Given the description of an element on the screen output the (x, y) to click on. 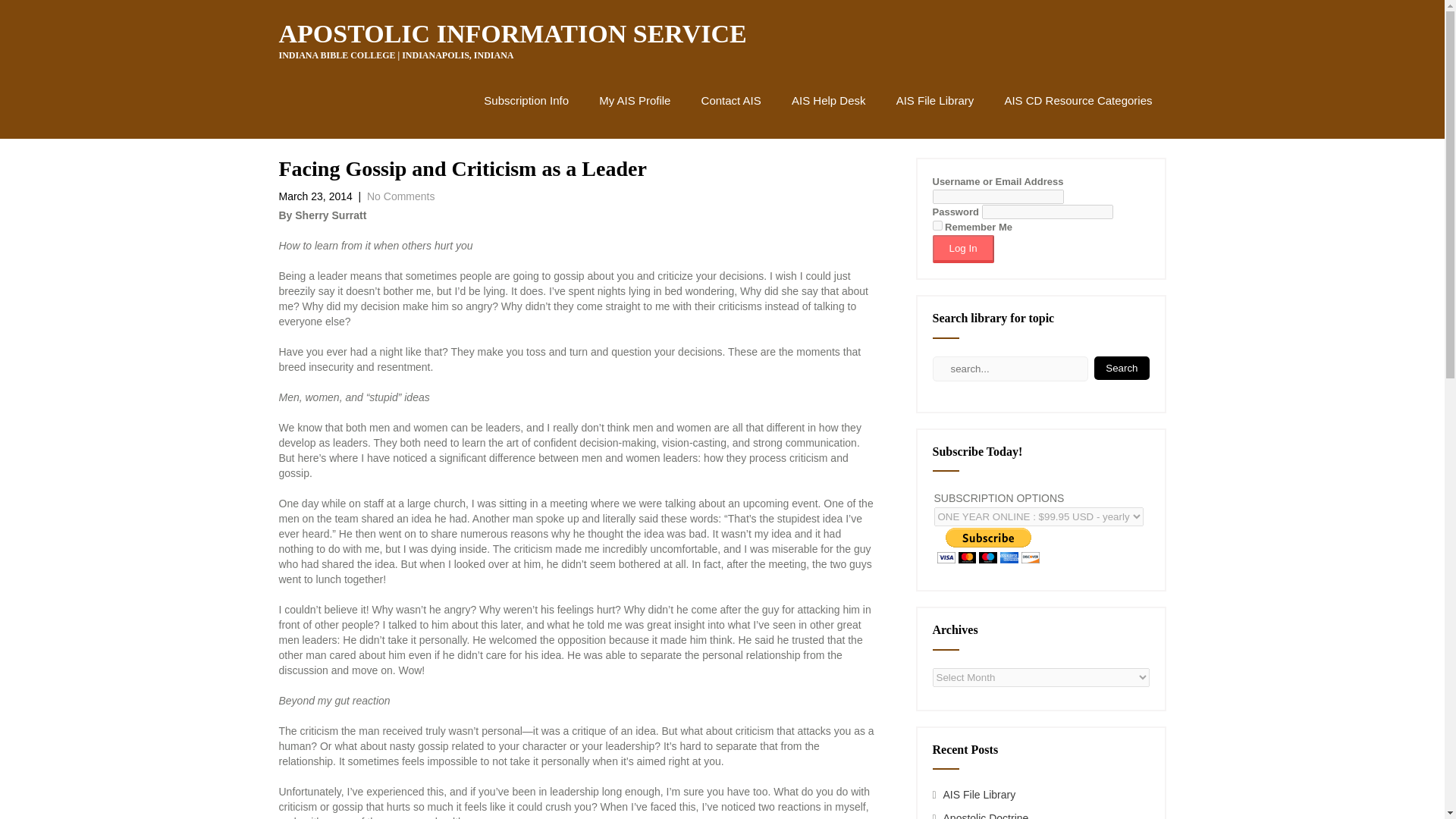
Log In (963, 248)
AIS CD Resource Categories (1078, 100)
AIS File Library (935, 100)
Contact AIS (730, 100)
AIS Help Desk (828, 100)
My AIS Profile (634, 100)
Apostolic Doctrine (986, 815)
AIS File Library (979, 794)
Search (1121, 368)
forever (937, 225)
